Given the description of an element on the screen output the (x, y) to click on. 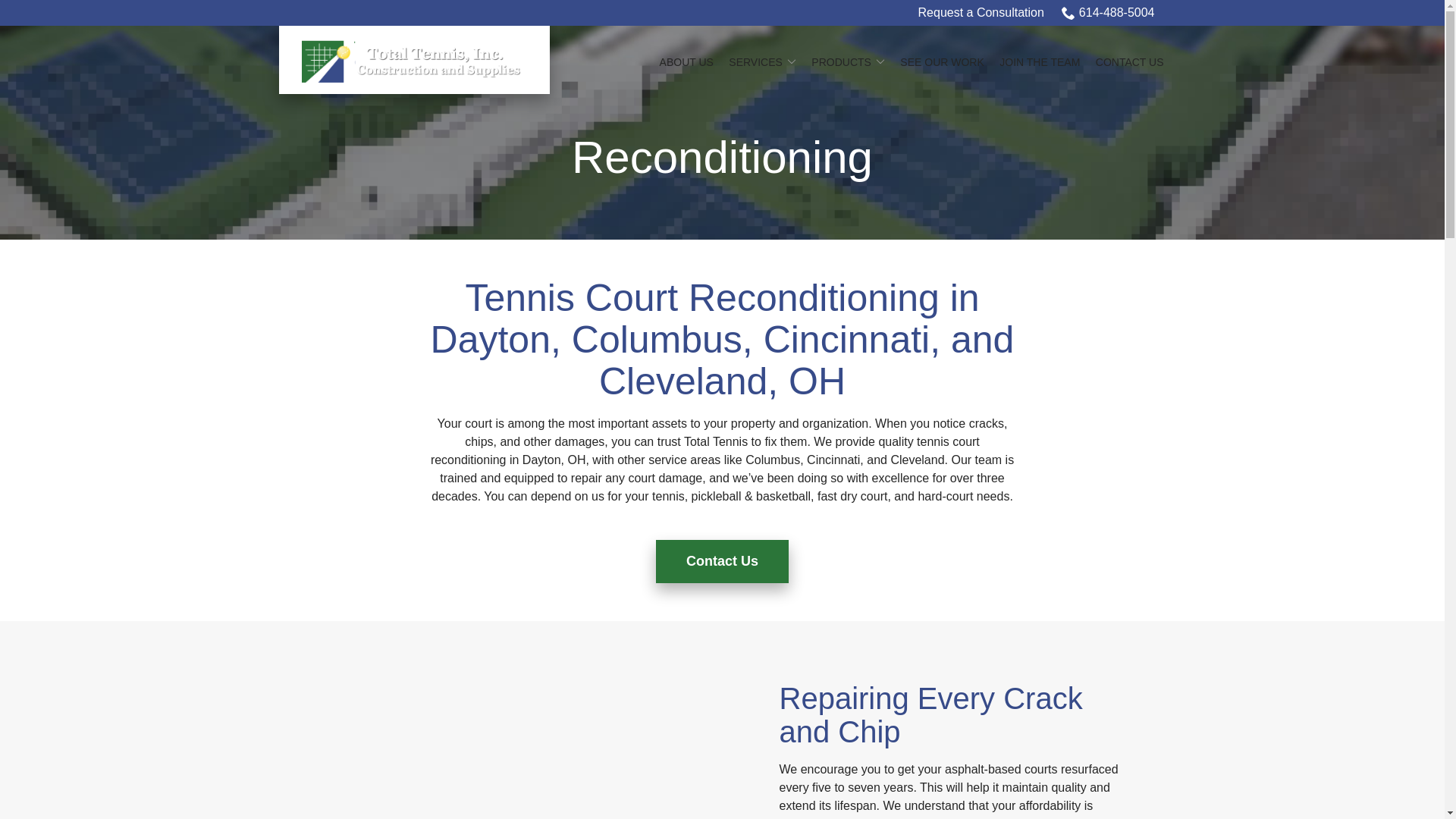
JOIN THE TEAM (1039, 61)
SERVICES (762, 61)
ABOUT US (686, 61)
SEE OUR WORK (941, 61)
CONTACT US (1129, 61)
614-488-5004 (1107, 13)
Request a Consultation (980, 13)
PRODUCTS (847, 61)
Contact Us (722, 561)
